Given the description of an element on the screen output the (x, y) to click on. 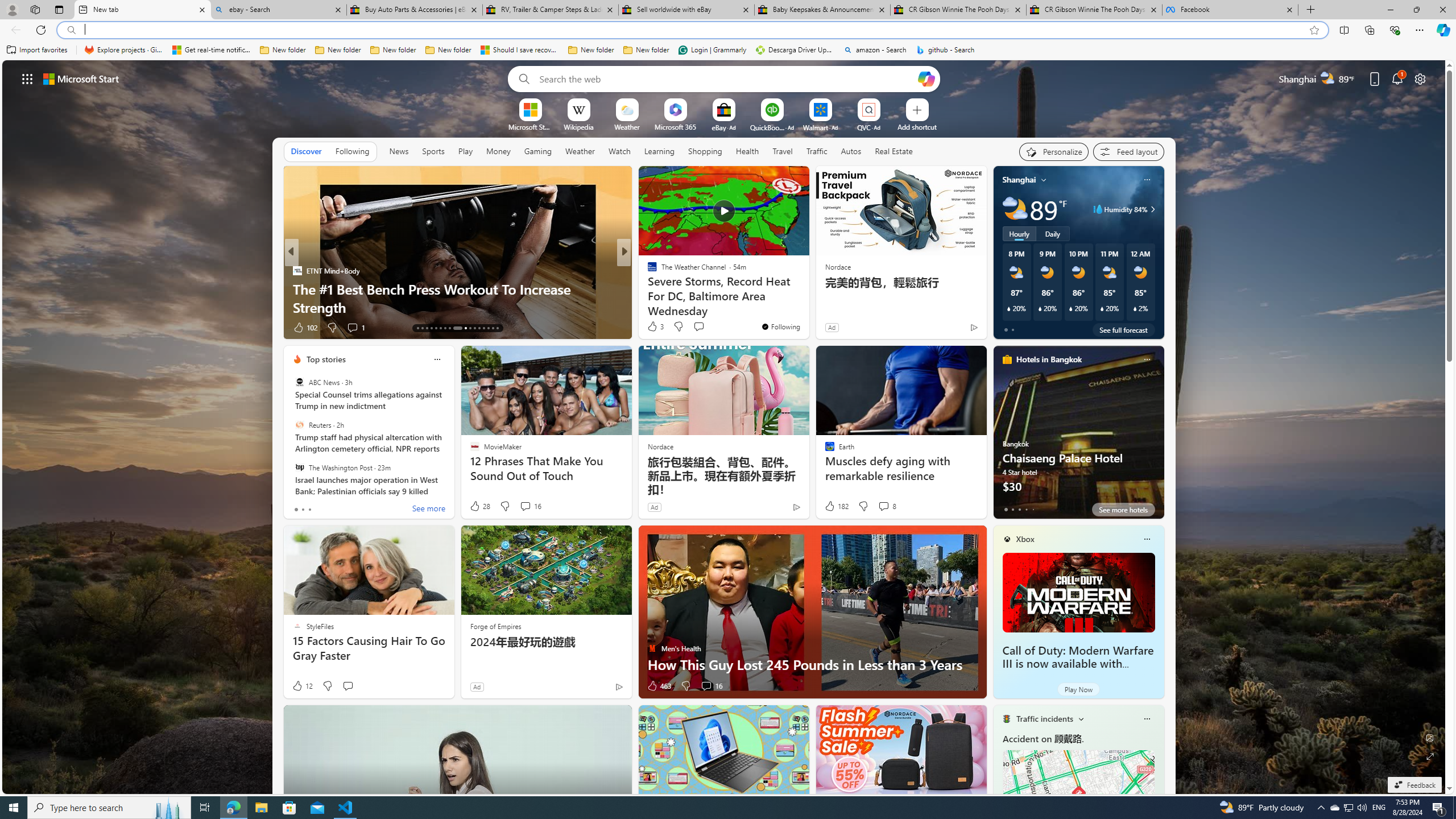
View comments 8 Comment (887, 505)
AutomationID: tab-21 (454, 328)
Traffic Title Traffic Light (1005, 718)
Hourly (1018, 233)
AutomationID: backgroundImagePicture (723, 426)
AutomationID: tab-22 (461, 328)
Personalize your feed" (1054, 151)
Add a site (916, 126)
